Given the description of an element on the screen output the (x, y) to click on. 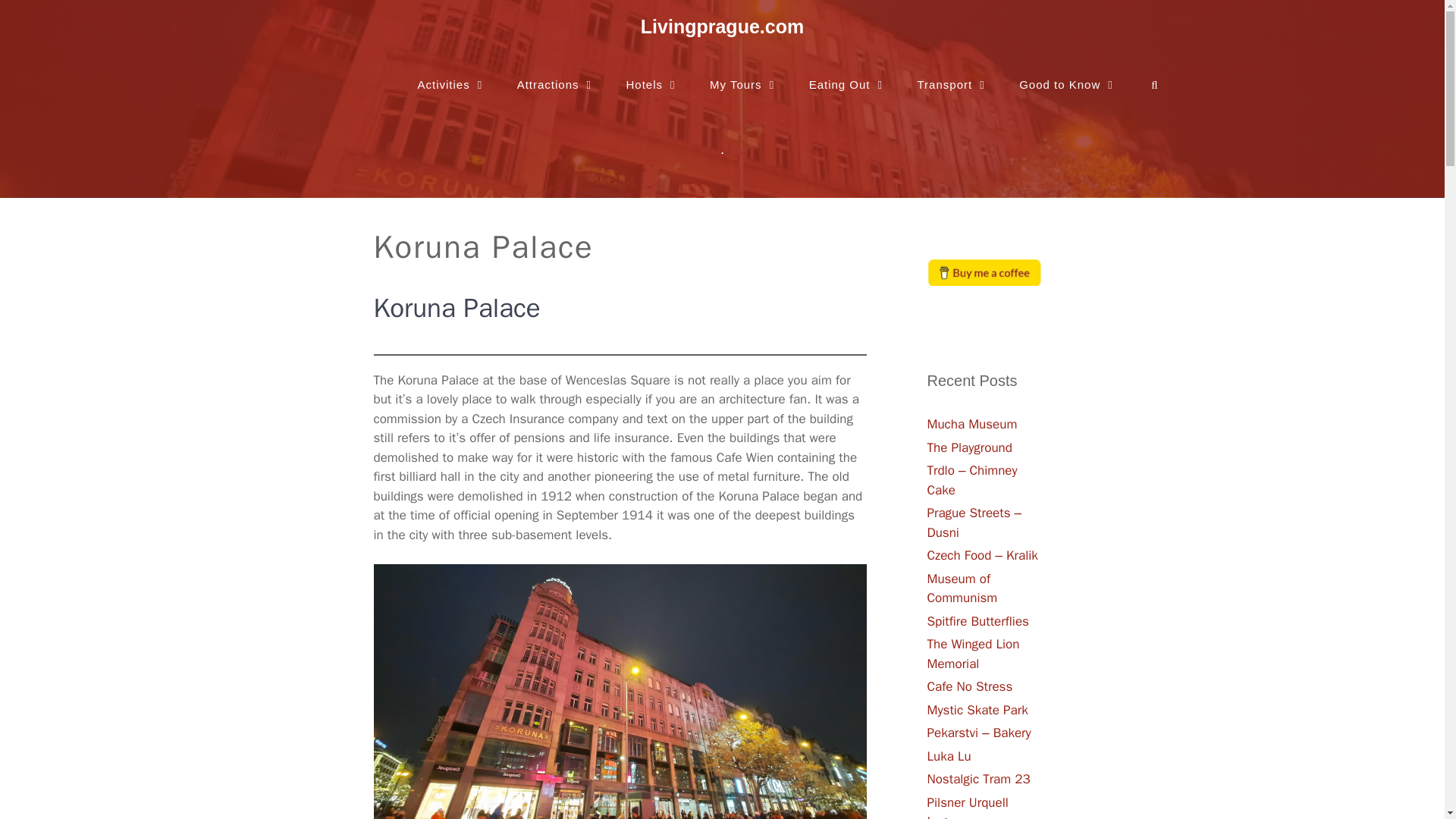
Attractions (556, 73)
Hotels (653, 73)
Activities (450, 73)
My Tours (743, 73)
Livingprague.com (721, 25)
